Given the description of an element on the screen output the (x, y) to click on. 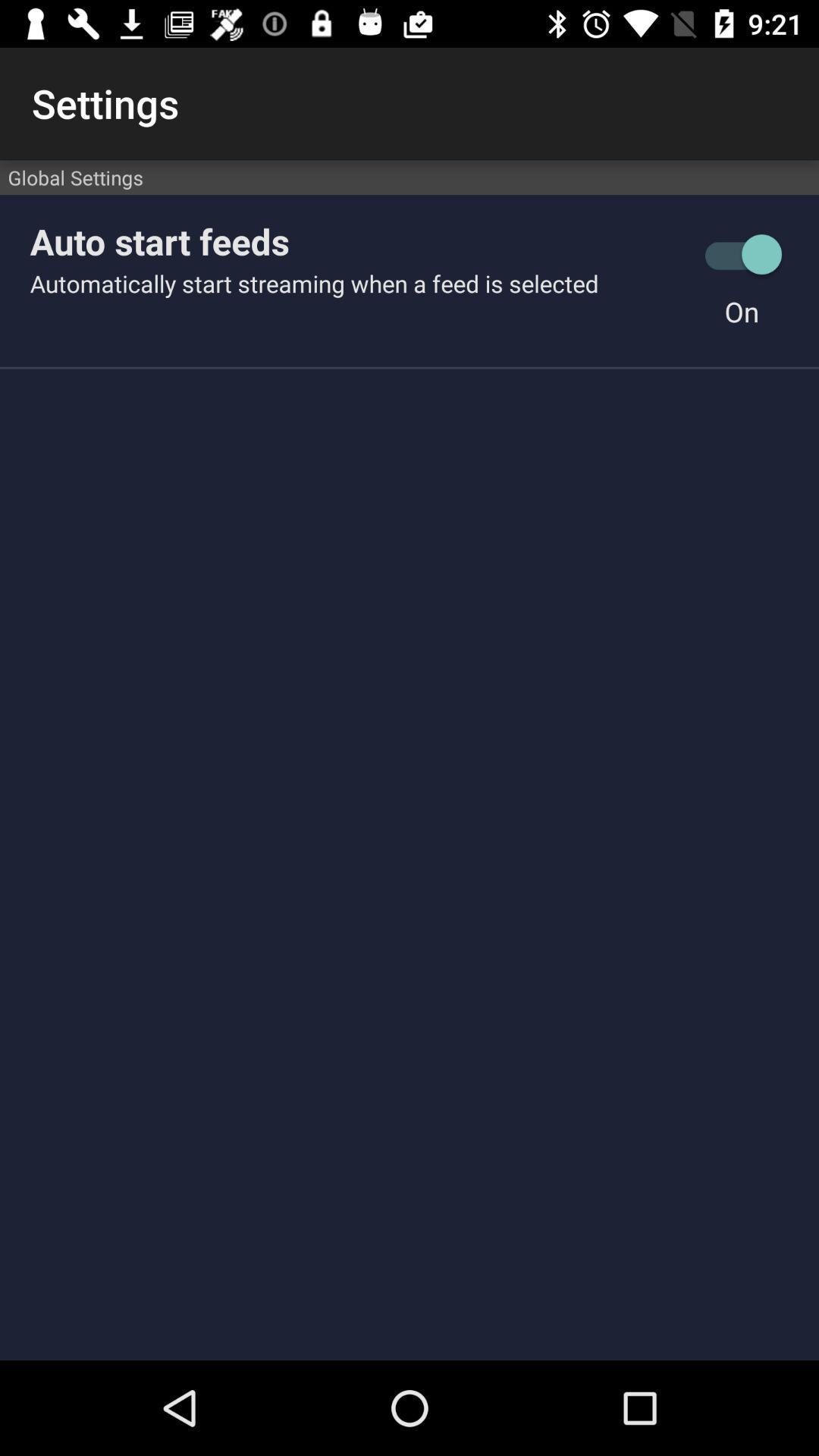
launch the icon below the global settings (357, 241)
